Given the description of an element on the screen output the (x, y) to click on. 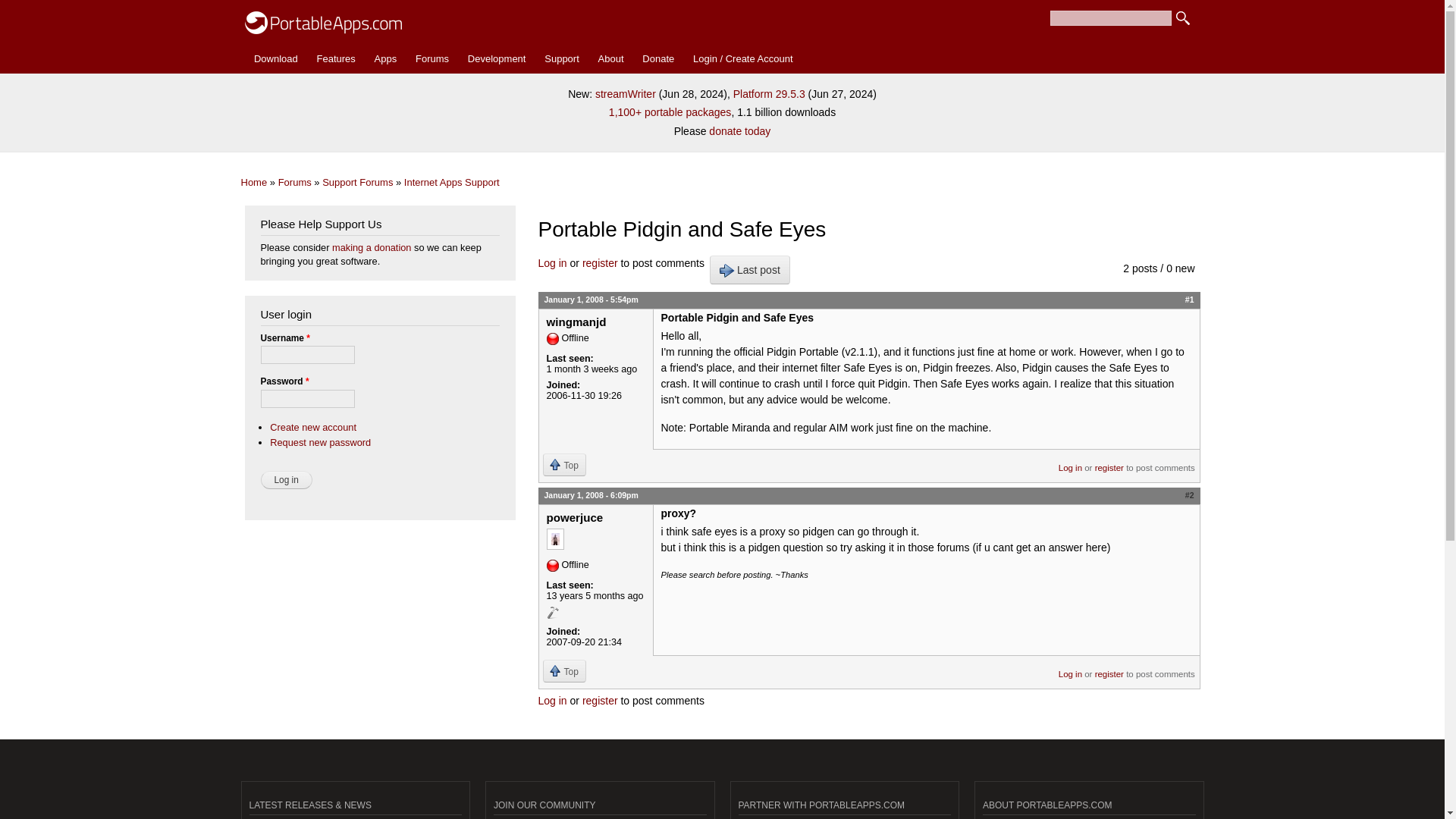
Request new password via e-mail. (320, 441)
Last post (750, 269)
Search (1182, 17)
Features (335, 59)
About (610, 59)
Portable App Directory (385, 59)
Jump to top of page (564, 464)
Create a new user account. (312, 427)
Home (322, 19)
Download the PortableApps.com Platform (275, 59)
